Given the description of an element on the screen output the (x, y) to click on. 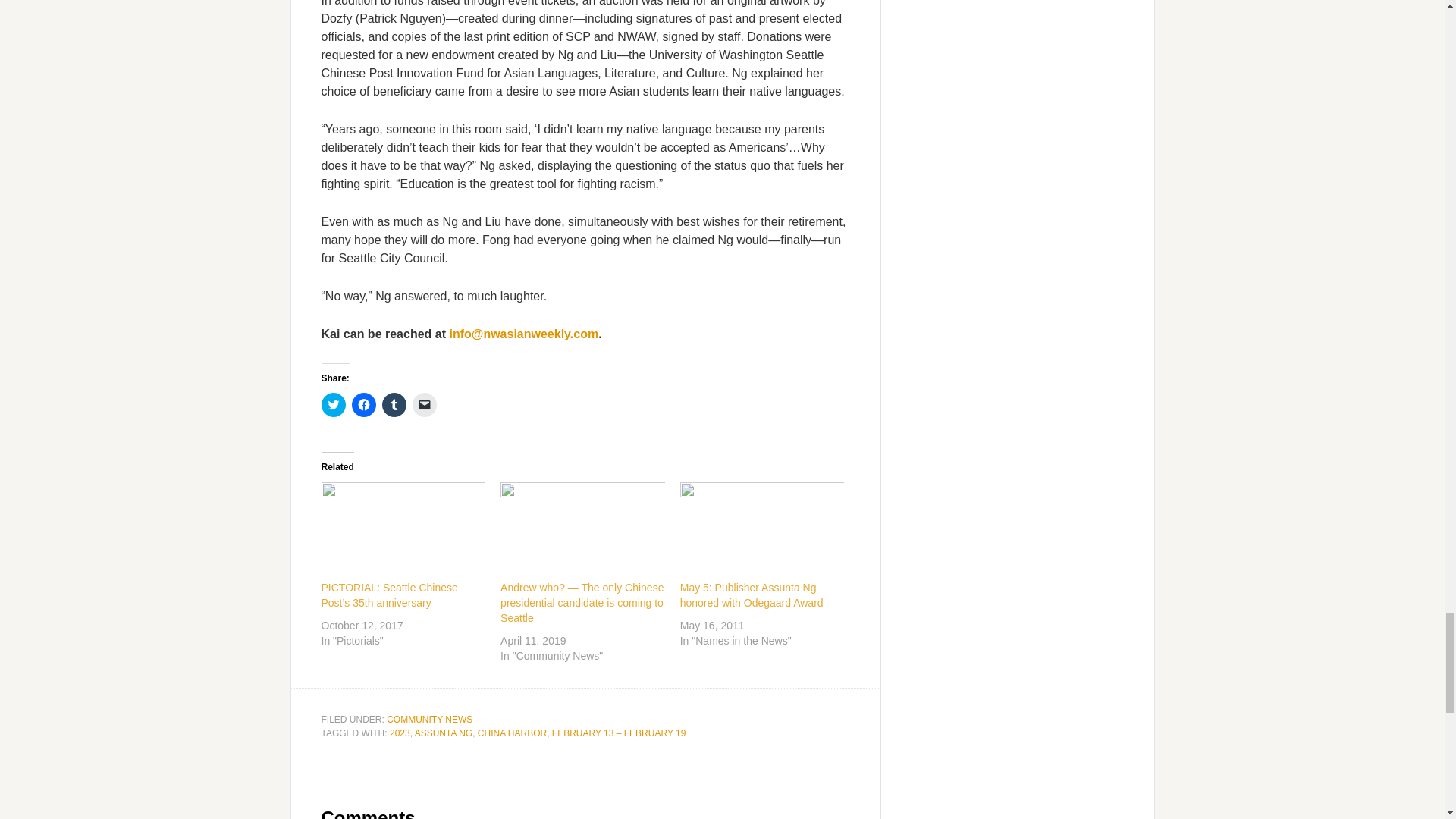
Click to share on Facebook (363, 404)
Click to share on Twitter (333, 404)
May 5: Publisher Assunta Ng honored with Odegaard Award (761, 529)
Click to share on Tumblr (393, 404)
May 5: Publisher Assunta Ng honored with Odegaard Award (751, 595)
Click to email a link to a friend (424, 404)
